Given the description of an element on the screen output the (x, y) to click on. 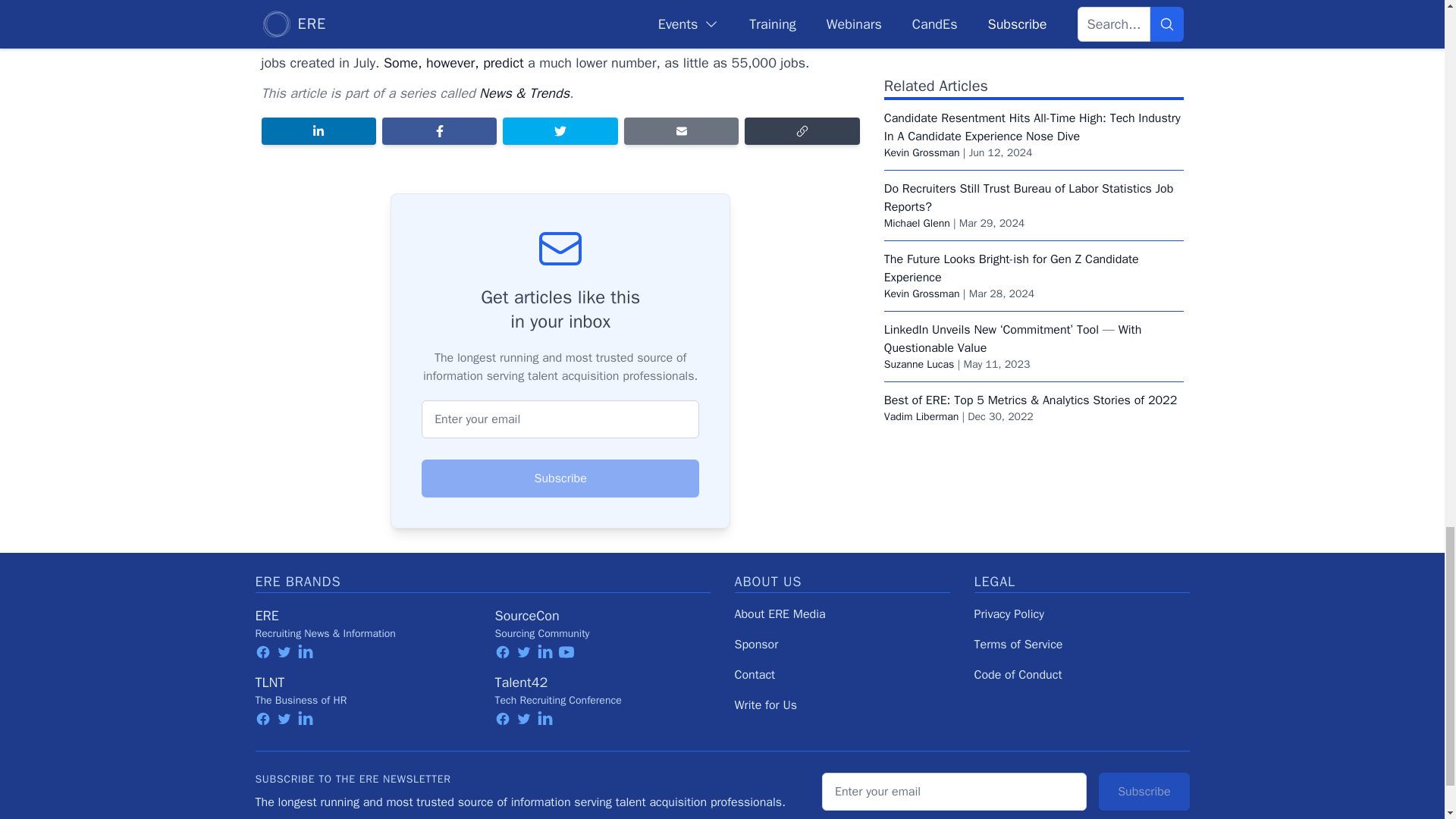
Some, however, predict (454, 62)
Kevin Grossman (921, 72)
Michael Glenn (916, 142)
Subscribe (560, 478)
